Given the description of an element on the screen output the (x, y) to click on. 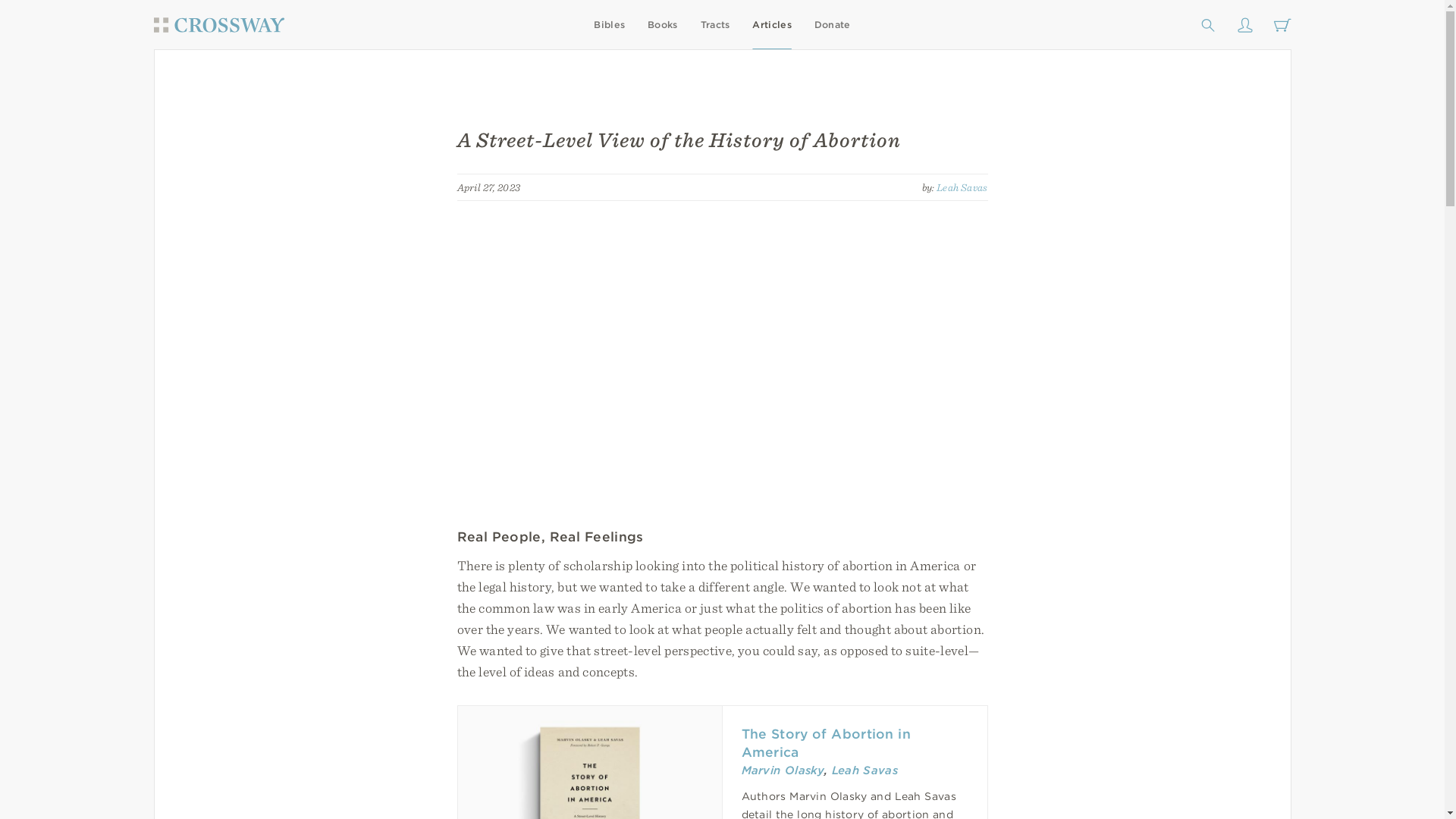
Tracts (715, 24)
Articles (771, 24)
Donate (831, 24)
The Story of Abortion in America (826, 742)
Books (662, 24)
Marvin Olasky (782, 770)
Leah Savas (864, 770)
Leah Savas (961, 186)
Bibles (609, 24)
